Given the description of an element on the screen output the (x, y) to click on. 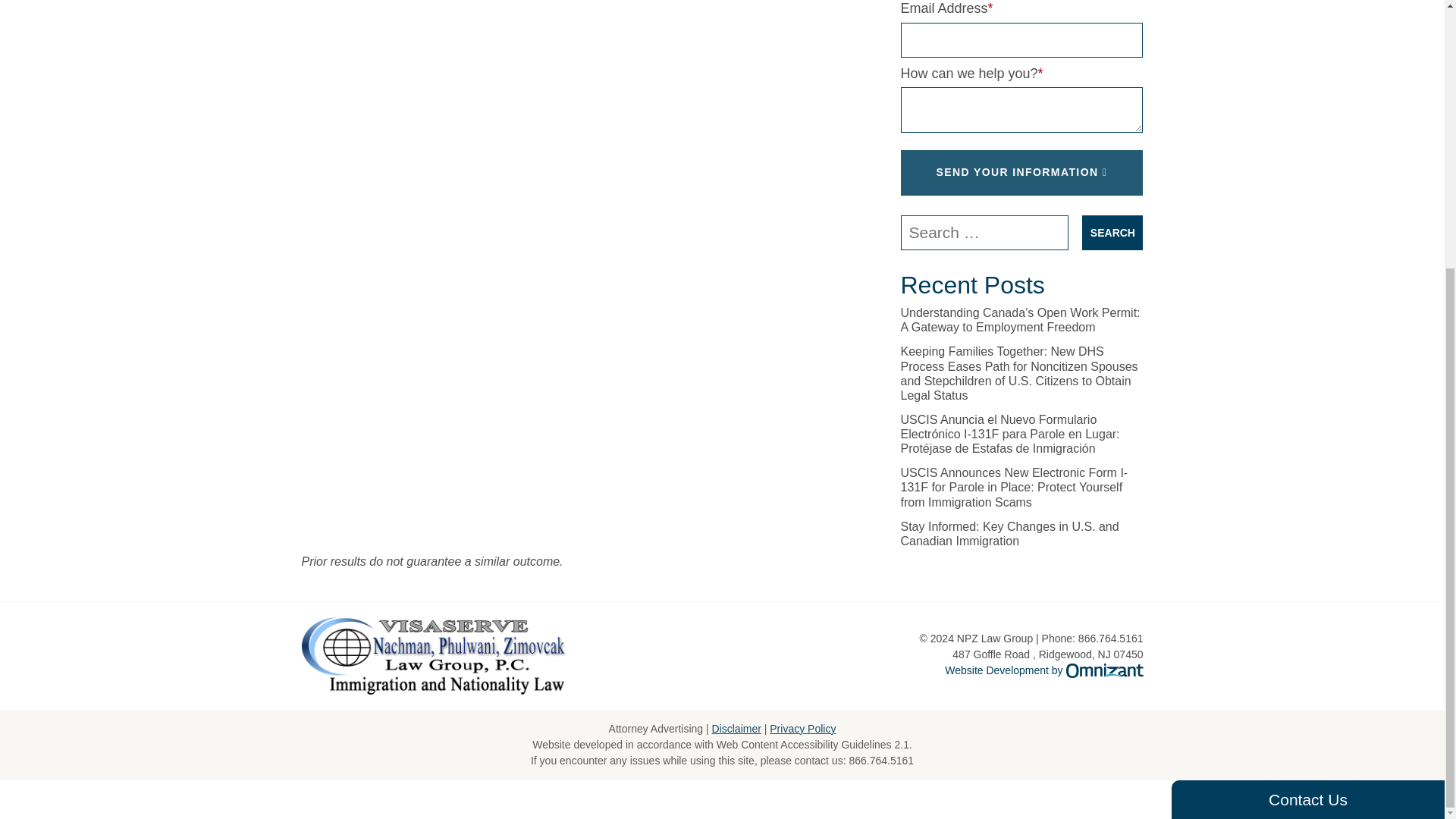
Search (1111, 232)
Search for: (984, 232)
Search (1111, 232)
